Given the description of an element on the screen output the (x, y) to click on. 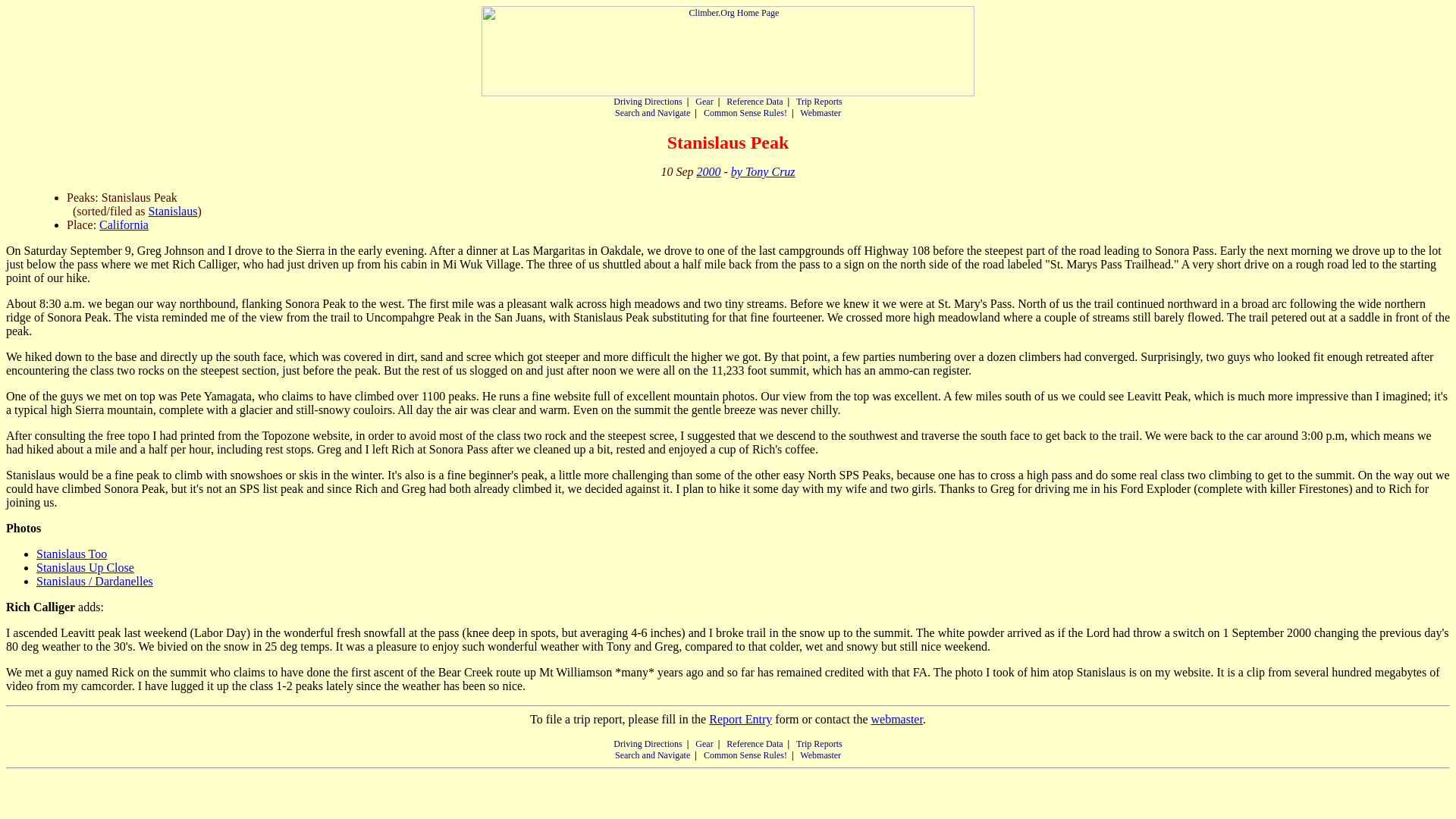
Webmaster (820, 755)
Common Sense Rules! (745, 112)
Report Entry (740, 718)
Driving Directions (646, 743)
Reference Data (754, 743)
Trip Reports (819, 101)
Driving Directions (646, 101)
webmaster (895, 718)
Search and Navigate (652, 755)
Search and Navigate (652, 112)
Reference Data (754, 101)
Climber.Org Home Page (727, 50)
Common Sense Rules! (745, 755)
Stanislaus Too (71, 553)
California (123, 224)
